Given the description of an element on the screen output the (x, y) to click on. 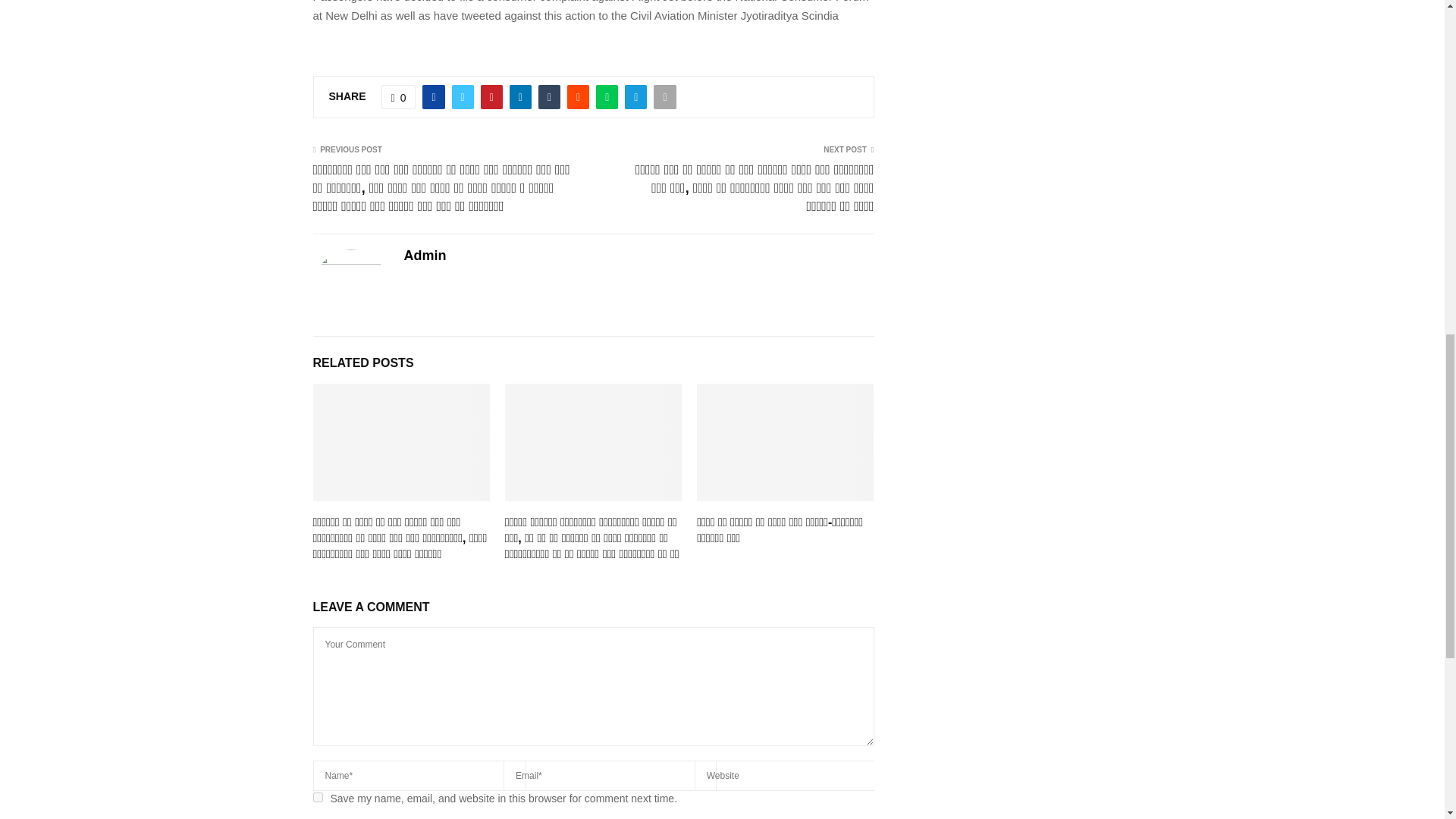
yes (317, 797)
